Given the description of an element on the screen output the (x, y) to click on. 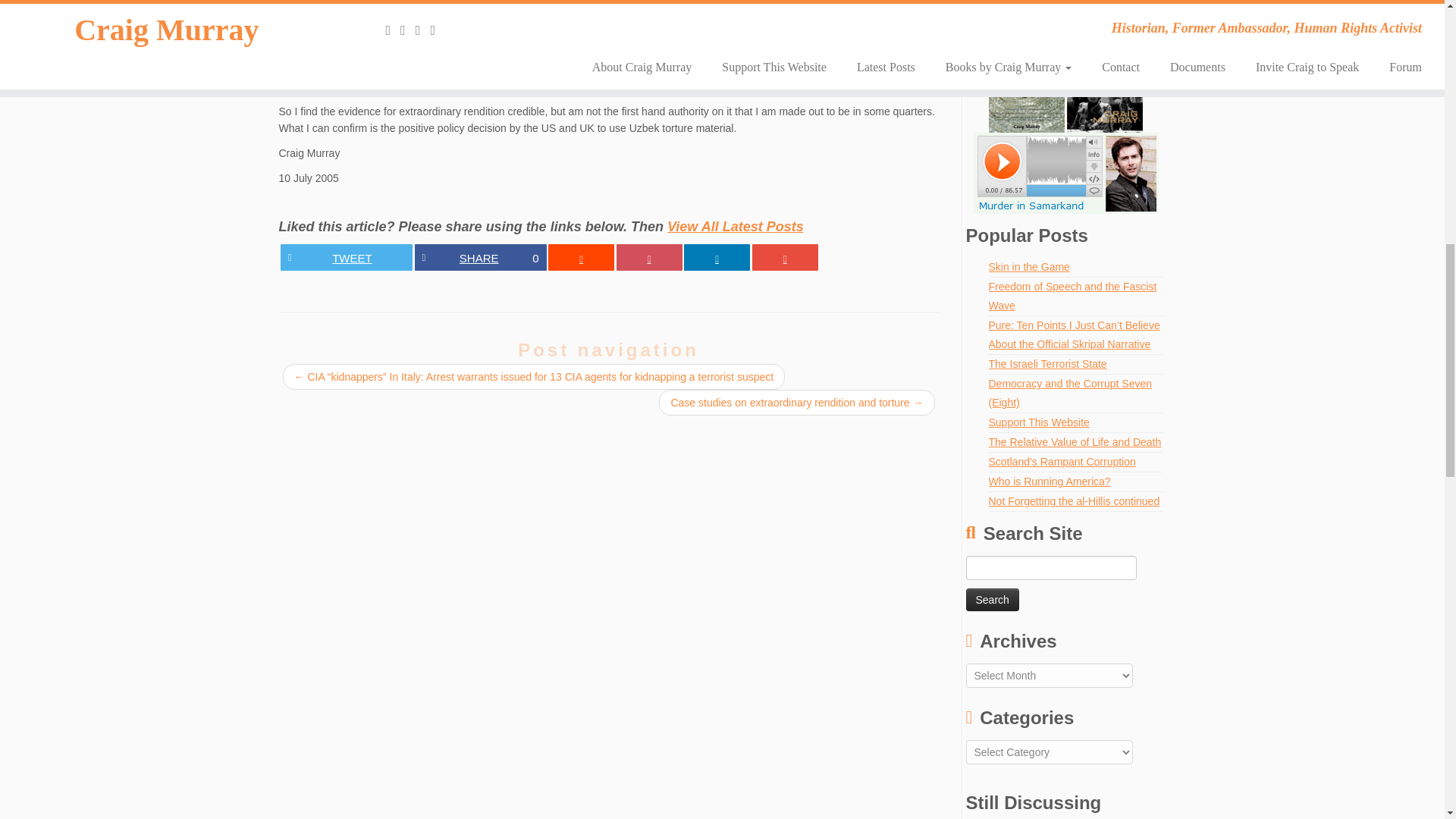
TWEET (479, 257)
Save to read later on Pocket (346, 257)
Skin in the Game (648, 257)
Share on Linkedin (1029, 266)
View All Latest Posts (716, 257)
Search (734, 226)
Share via mail (992, 599)
Freedom of Speech and the Fascist Wave (785, 257)
Share on Facebook (1072, 296)
